Given the description of an element on the screen output the (x, y) to click on. 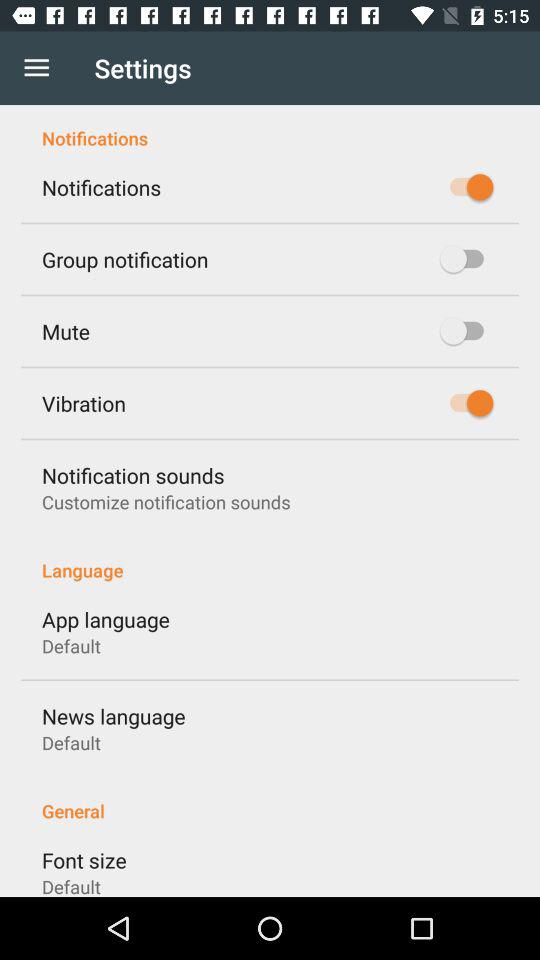
launch the news language icon (113, 715)
